Given the description of an element on the screen output the (x, y) to click on. 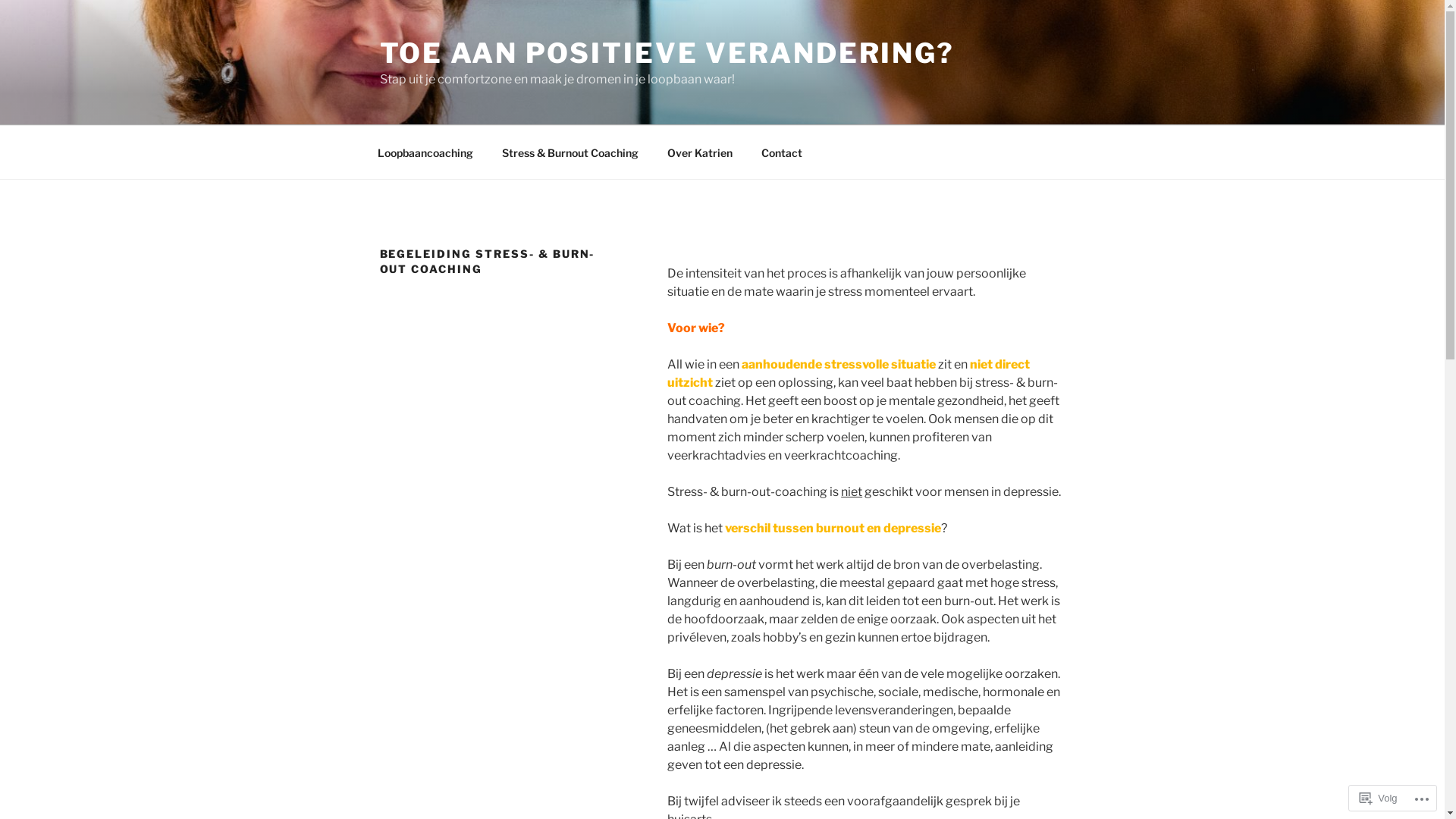
Contact Element type: text (781, 151)
Loopbaancoaching Element type: text (425, 151)
Volg Element type: text (1377, 797)
TOE AAN POSITIEVE VERANDERING? Element type: text (666, 52)
Stress & Burnout Coaching Element type: text (569, 151)
Over Katrien Element type: text (699, 151)
